Given the description of an element on the screen output the (x, y) to click on. 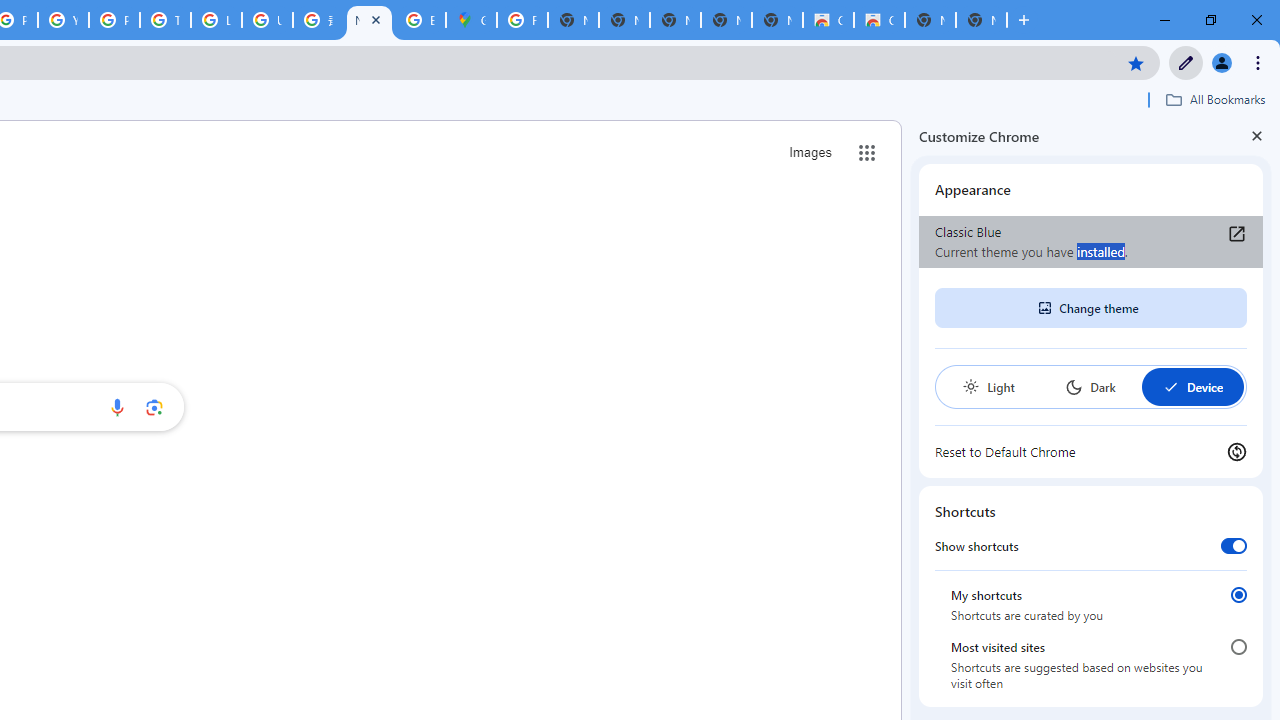
Change theme (1090, 308)
Classic Blue - Chrome Web Store (878, 20)
Device (1192, 386)
New Tab (981, 20)
Classic Blue - Chrome Web Store (827, 20)
Google Maps (470, 20)
